Given the description of an element on the screen output the (x, y) to click on. 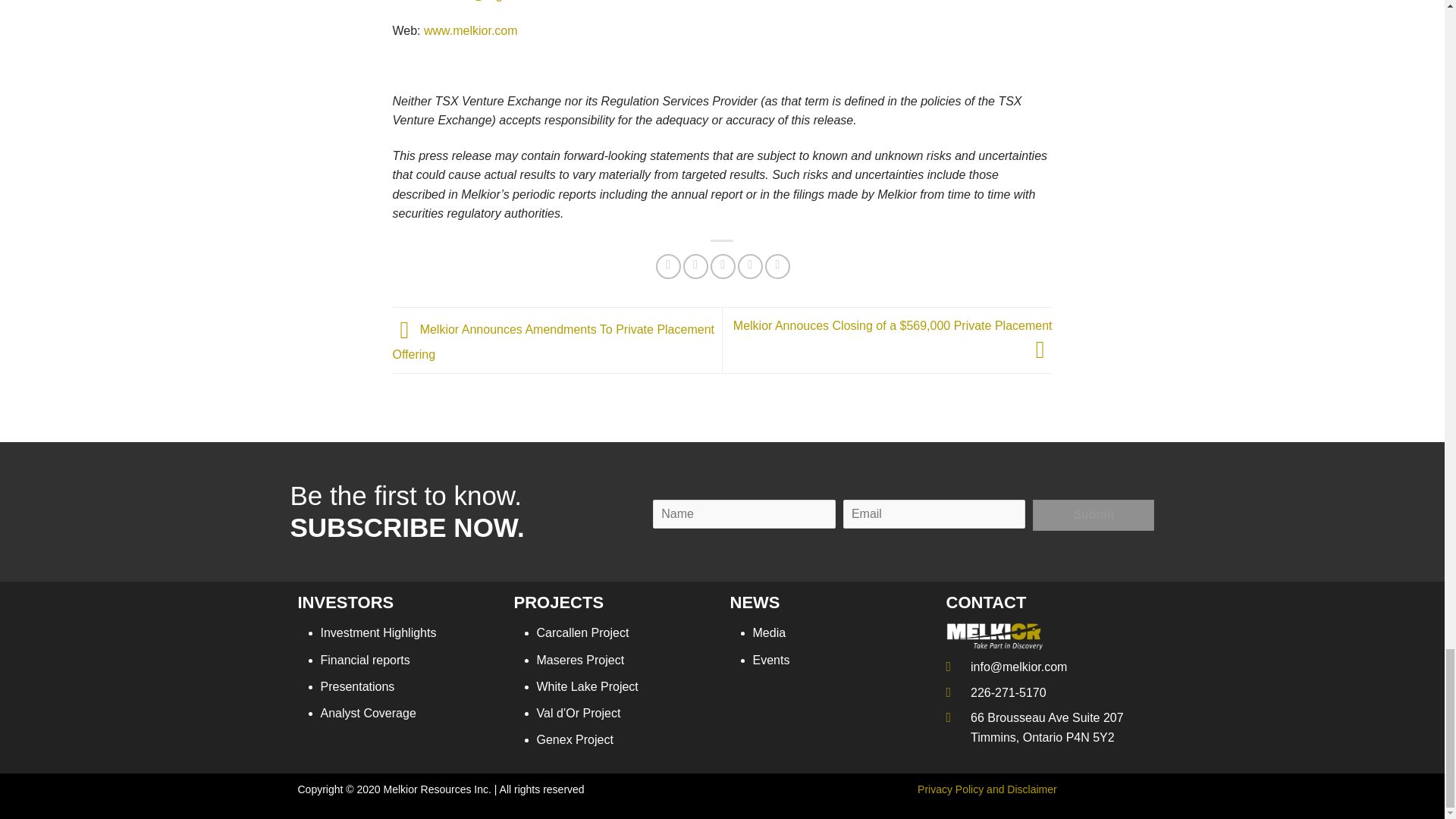
www.melkior.com (470, 30)
